Given the description of an element on the screen output the (x, y) to click on. 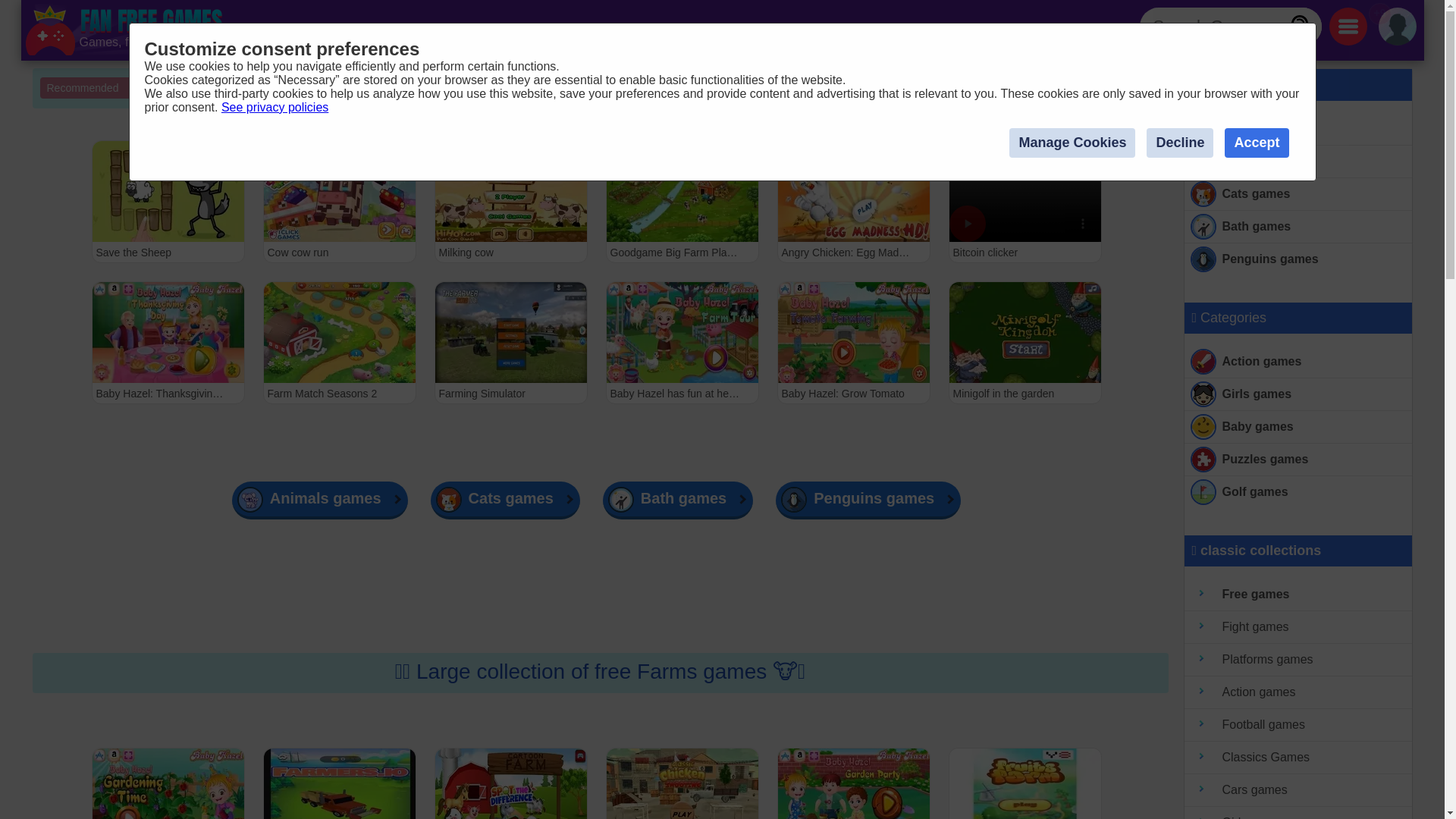
Fight games (1298, 626)
Angry Chicken: Egg Madness (853, 201)
See privacy policies (275, 106)
Bitcoin clicker (1023, 201)
Decline (1179, 142)
Milking cow (509, 201)
Penguins games (1298, 259)
Free Football games (1298, 725)
Golf games (1298, 491)
